Given the description of an element on the screen output the (x, y) to click on. 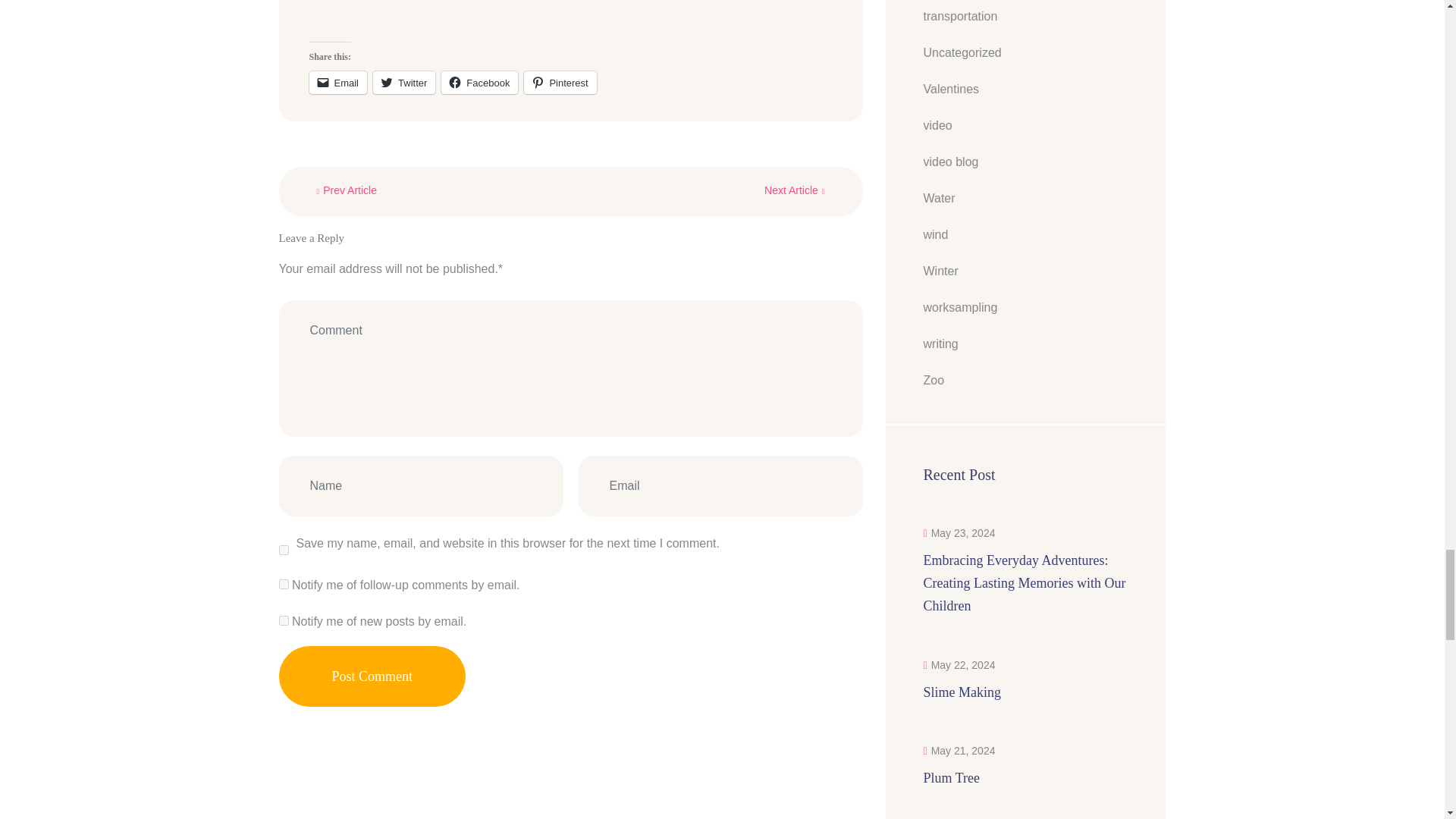
Twitter (403, 82)
Email (338, 82)
Click to share on Pinterest (559, 82)
Facebook (479, 82)
subscribe (283, 620)
Prev Article (347, 190)
Click to email a link to a friend (338, 82)
Click to share on Twitter (403, 82)
yes (283, 549)
Pinterest (559, 82)
Post Comment (372, 676)
Click to share on Facebook (479, 82)
Next Article (794, 190)
subscribe (283, 583)
